Given the description of an element on the screen output the (x, y) to click on. 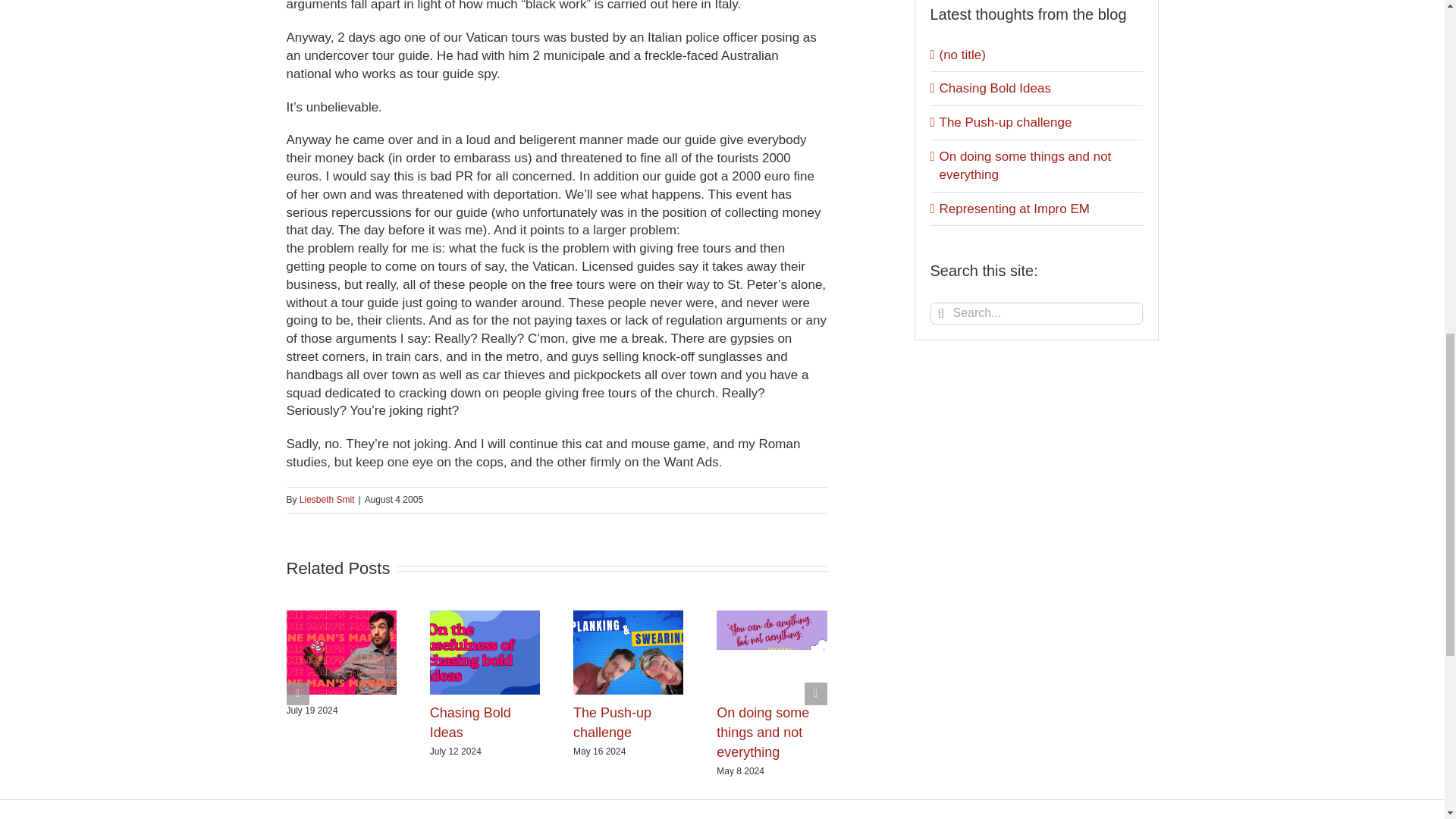
Representing at Impro EM (1014, 208)
On doing some things and not everything (762, 732)
Posts by Liesbeth Smit (327, 499)
Chasing Bold Ideas (470, 722)
On doing some things and not everything (1024, 165)
Chasing Bold Ideas (470, 722)
On doing some things and not everything (762, 732)
The Push-up challenge (611, 722)
Liesbeth Smit (327, 499)
The Push-up challenge (1005, 122)
The Push-up challenge (611, 722)
Chasing Bold Ideas (994, 88)
